Given the description of an element on the screen output the (x, y) to click on. 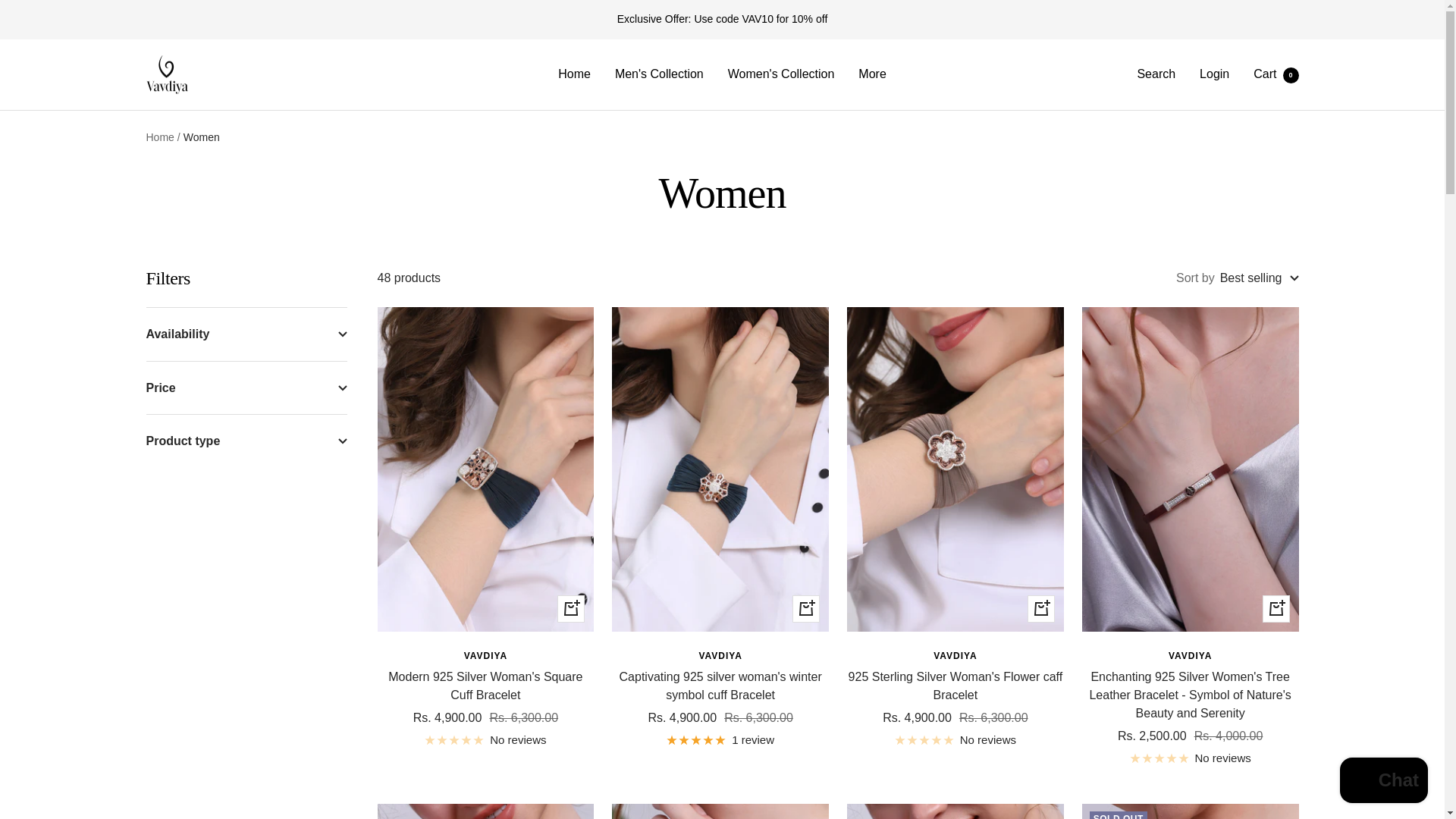
Quick view (571, 608)
Men's Collection (658, 74)
Shopify online store chat (1275, 73)
Quick view (1383, 781)
Availability (805, 608)
More (245, 334)
Best selling (872, 74)
VAVDIYA (1259, 278)
Home (719, 656)
VAVDIYA (574, 74)
Vavdiya Silver (485, 656)
Search (166, 75)
Women's Collection (1155, 73)
Login (781, 74)
